Given the description of an element on the screen output the (x, y) to click on. 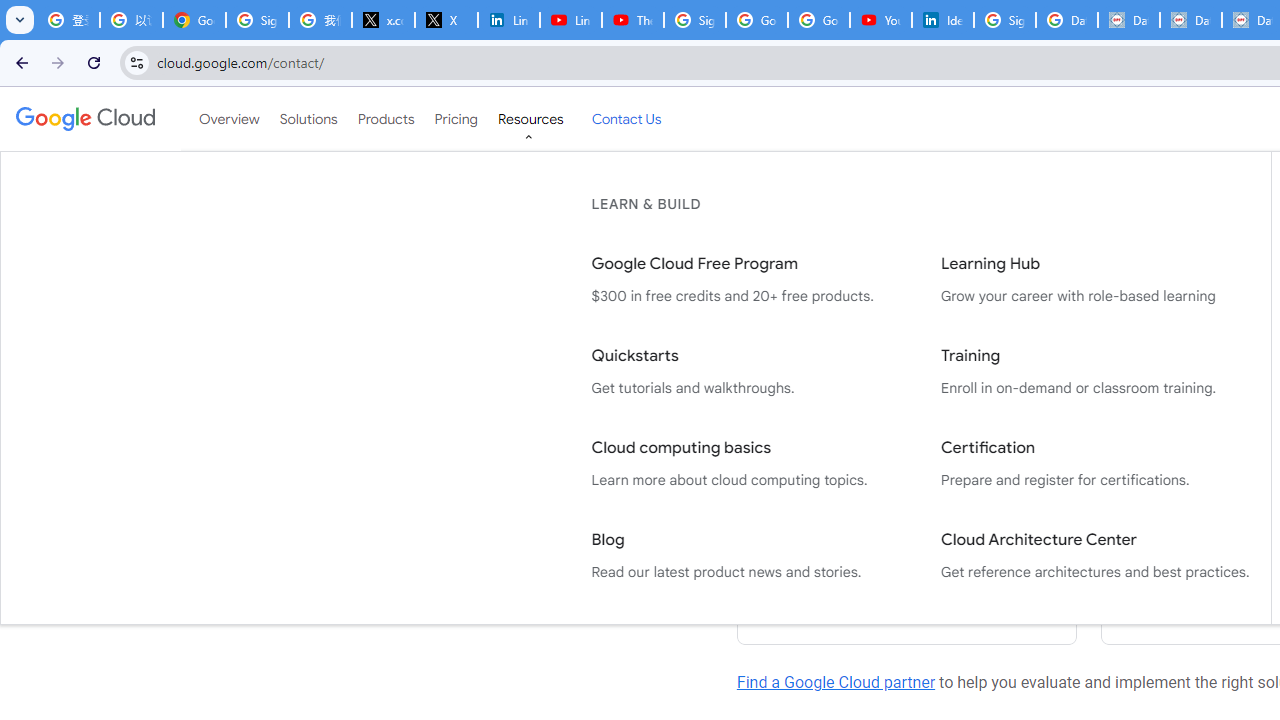
View site information (136, 62)
Solutions (308, 119)
Reload (93, 62)
Quickstarts Get tutorials and walkthroughs. (746, 372)
Google Cloud (84, 118)
Overview (228, 119)
LinkedIn Privacy Policy (508, 20)
Forward (57, 62)
Blog Read our latest product news and stories. (746, 555)
